Given the description of an element on the screen output the (x, y) to click on. 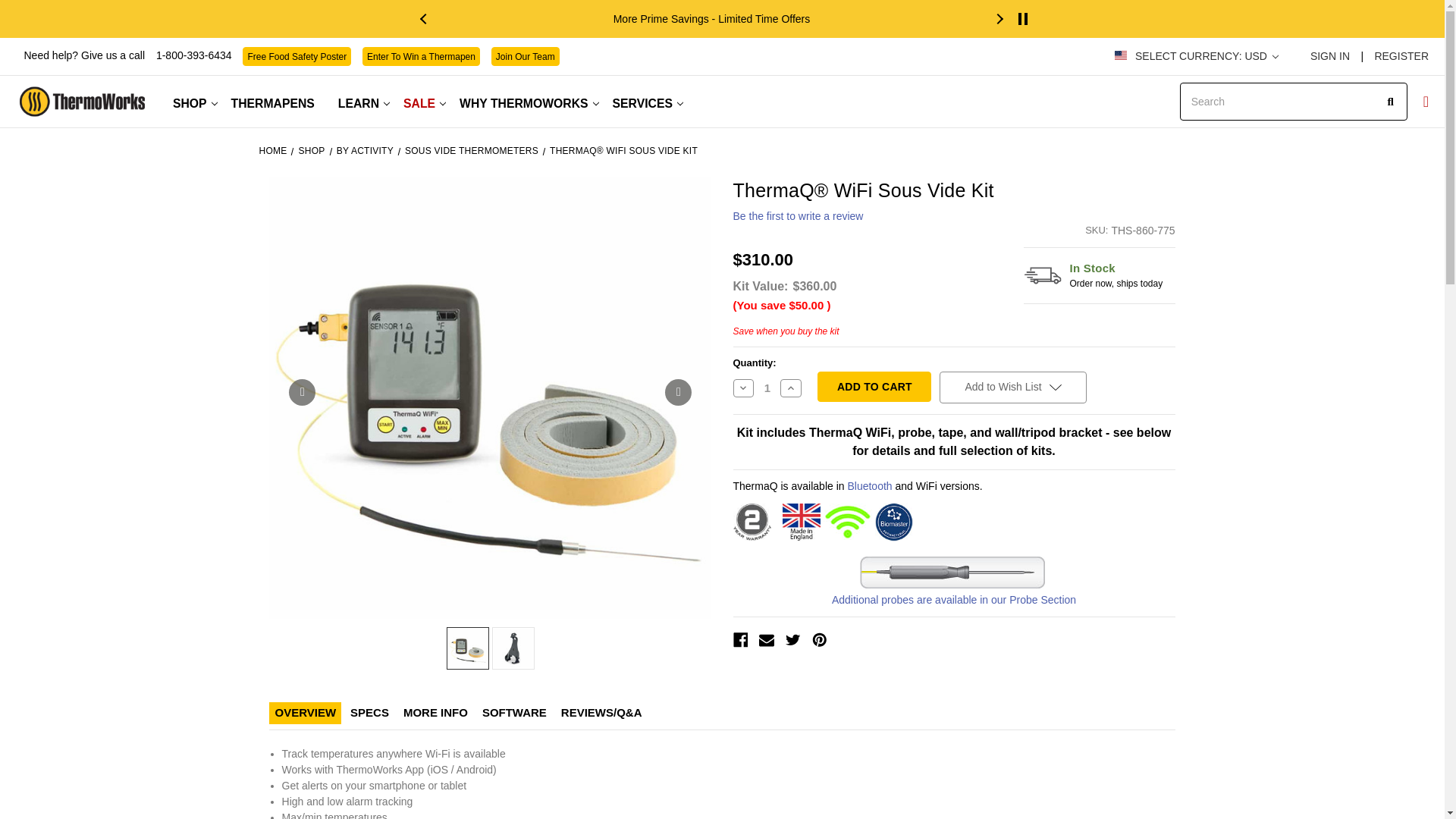
Type K Connections (952, 572)
SELECT CURRENCY: USD (1205, 56)
Pinterest (819, 639)
2-year Warranty (751, 521)
Wi-Fi (848, 522)
Facebook (740, 639)
SIGN IN (1328, 56)
ThermoWorks (82, 101)
Add to Cart (873, 386)
Biomaster Silver Ion Technology (893, 521)
Enter To Win a Thermapen (421, 56)
REGISTER (1397, 56)
Made in England (802, 522)
1 (767, 387)
Need help? Give us a call 1-800-393-6434 (129, 55)
